Given the description of an element on the screen output the (x, y) to click on. 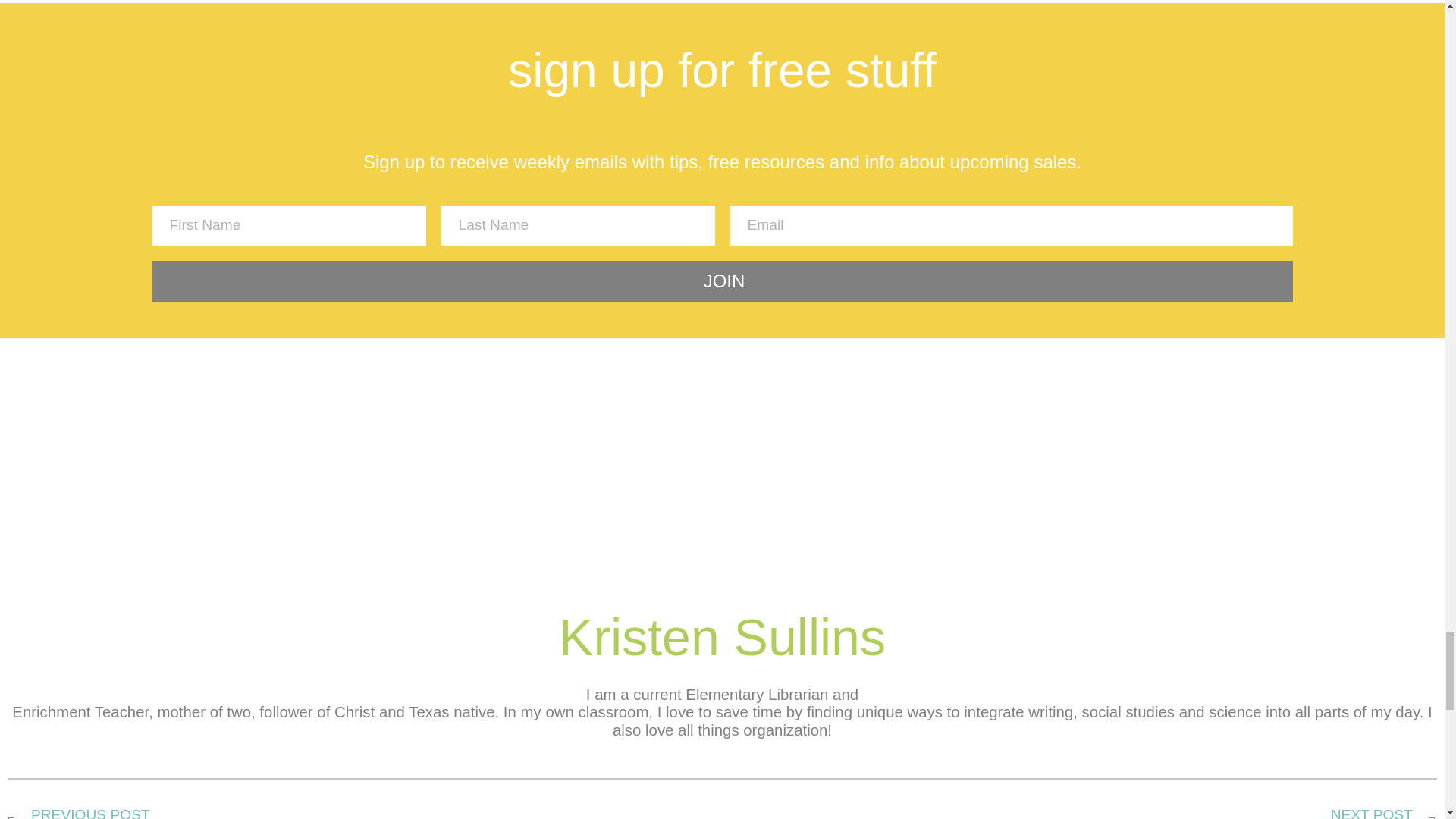
JOIN (1078, 812)
